Given the description of an element on the screen output the (x, y) to click on. 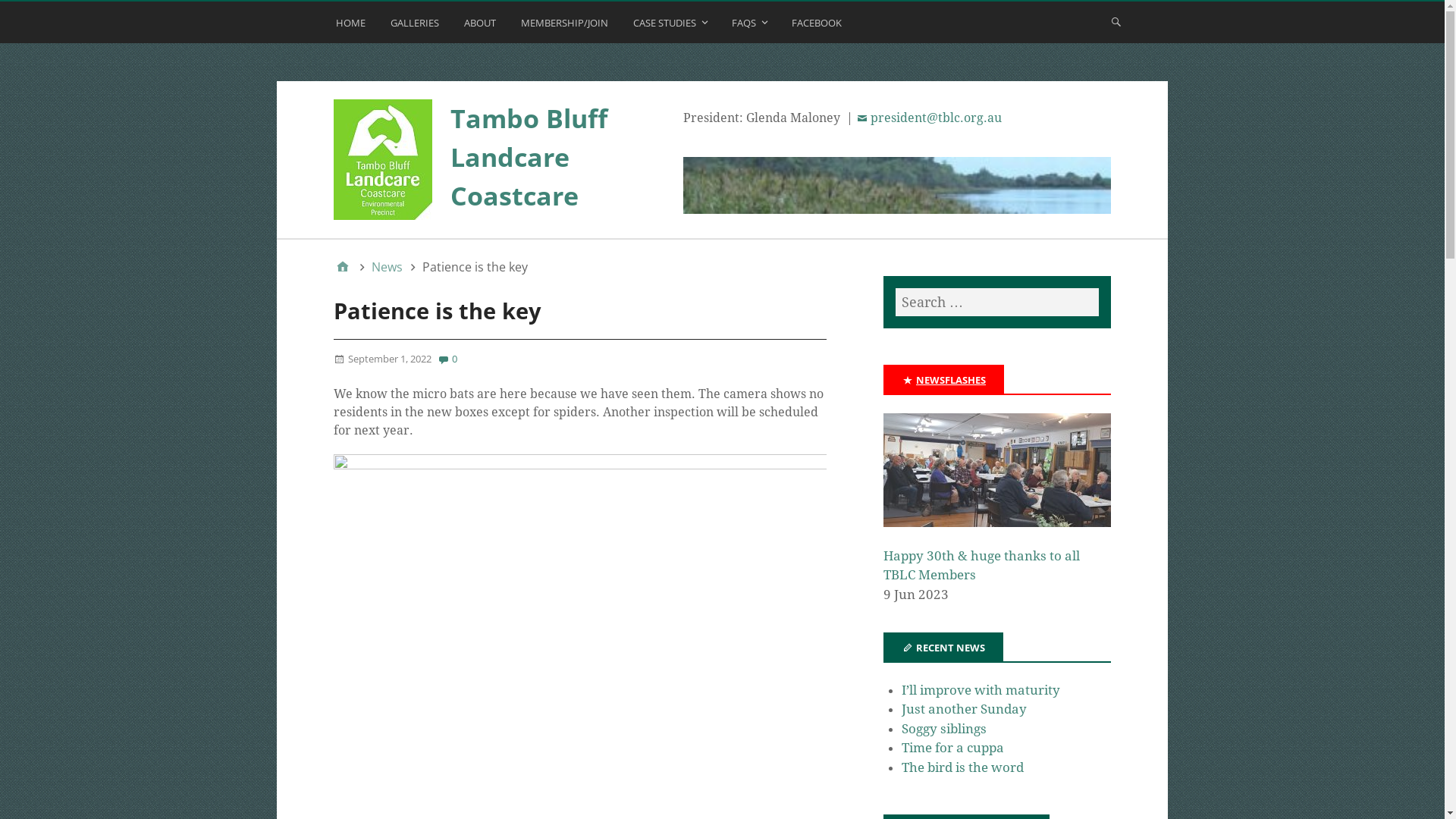
FACEBOOK Element type: text (818, 26)
Happy 30th & huge thanks to all TBLC Members Element type: text (981, 565)
president@tblc.org.au Element type: text (928, 117)
Happy 30th & huge thanks to all TBLC Members Element type: hover (996, 478)
News Element type: text (386, 266)
MEMBERSHIP/JOIN Element type: text (565, 26)
FAQS Element type: text (750, 26)
Time for a cuppa Element type: text (952, 747)
The bird is the word Element type: text (962, 767)
CASE STUDIES Element type: text (671, 26)
Soggy siblings Element type: text (943, 728)
Search Element type: text (29, 16)
Tambo Bluff Landcare Coastcare Element type: text (528, 156)
Just another Sunday Element type: text (963, 708)
0 Element type: text (447, 359)
GALLERIES Element type: text (416, 26)
NEWSFLASHES Element type: text (950, 379)
ABOUT Element type: text (481, 26)
 HOME Element type: text (351, 26)
